Given the description of an element on the screen output the (x, y) to click on. 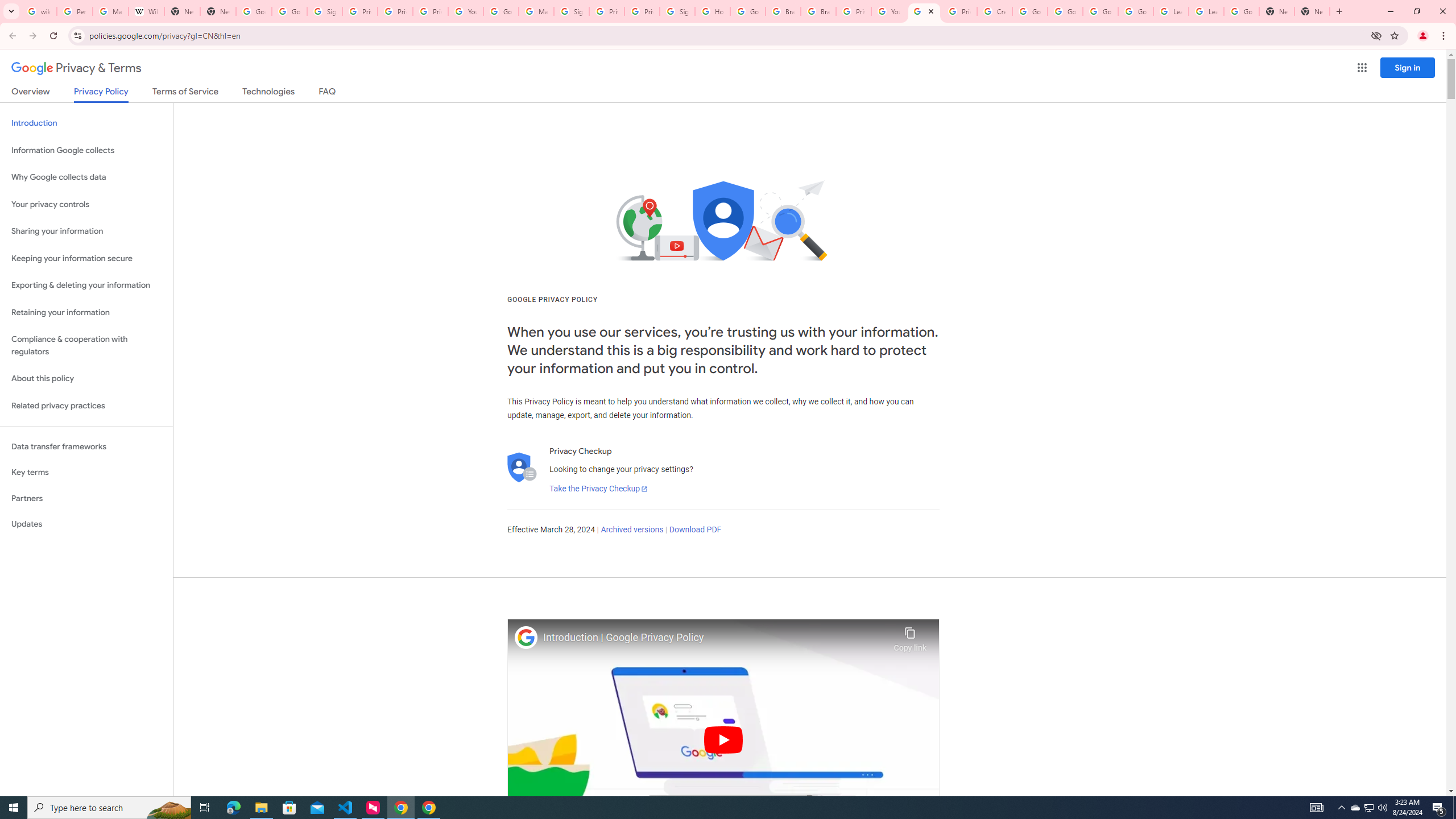
About this policy (86, 379)
Partners (86, 497)
Wikipedia:Edit requests - Wikipedia (145, 11)
Google Drive: Sign-in (288, 11)
Copy link (909, 636)
Google Account Help (1064, 11)
Sharing your information (86, 230)
Sign in - Google Accounts (571, 11)
Photo image of Google (526, 636)
